Given the description of an element on the screen output the (x, y) to click on. 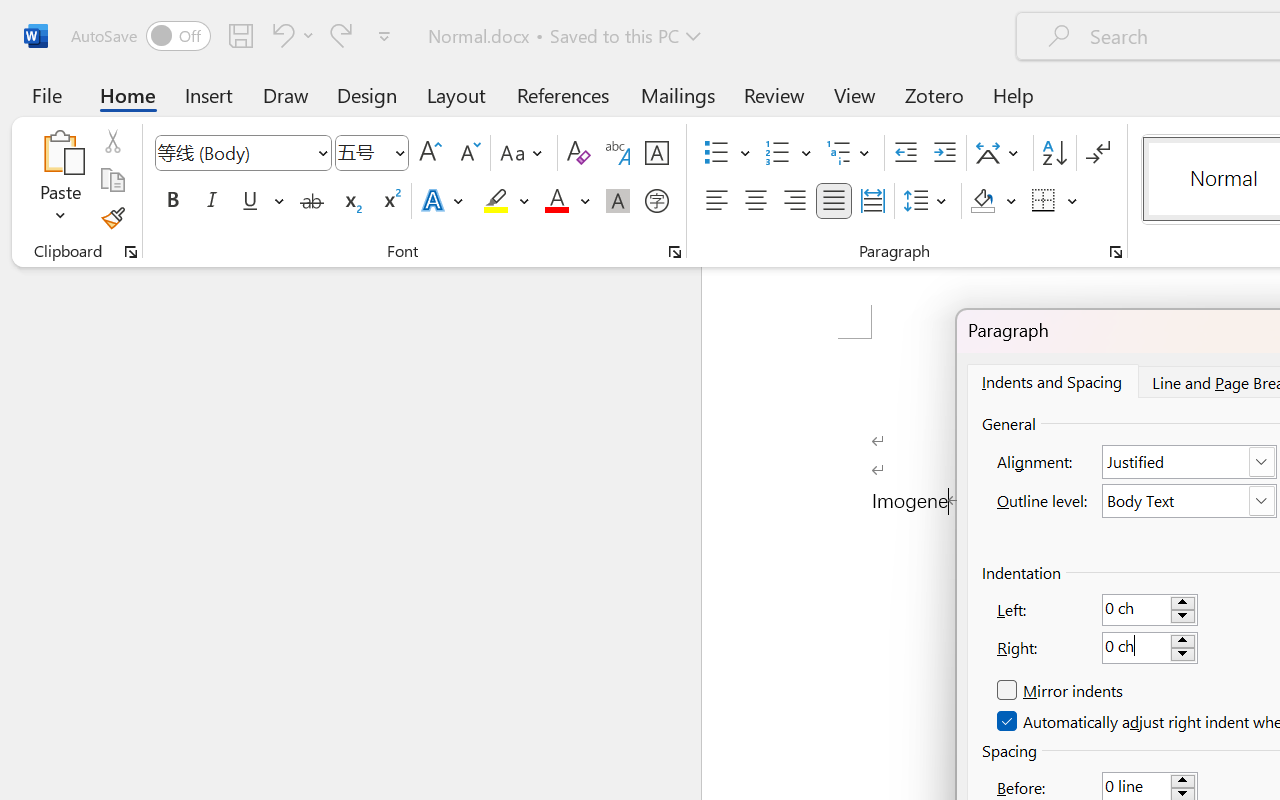
Increase Indent (944, 153)
Undo Typing (280, 35)
Justify (834, 201)
RichEdit Control (1136, 647)
Shading (993, 201)
Subscript (350, 201)
Format Painter (112, 218)
Font Color RGB(255, 0, 0) (556, 201)
Outline level: (1189, 501)
Clear Formatting (578, 153)
Copy (112, 179)
